Given the description of an element on the screen output the (x, y) to click on. 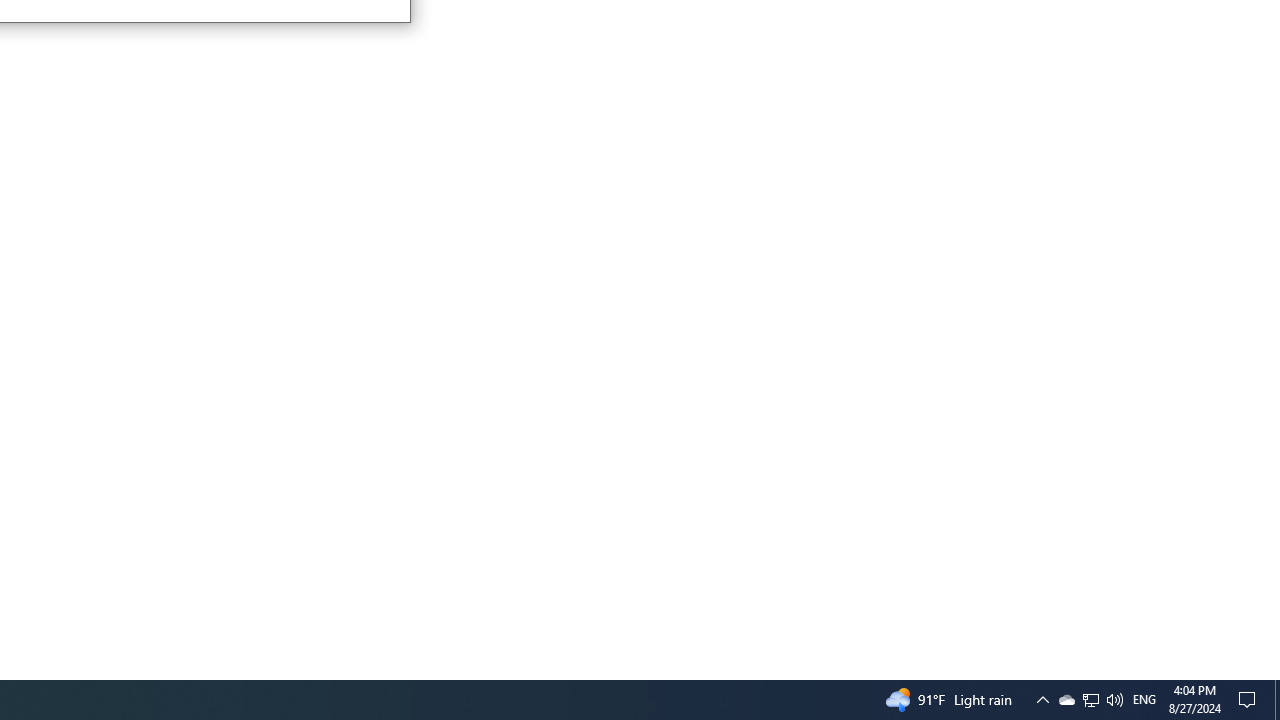
Tray Input Indicator - English (United States) (1091, 699)
Q2790: 100% (1144, 699)
Show desktop (1114, 699)
Action Center, No new notifications (1066, 699)
User Promoted Notification Area (1277, 699)
Notification Chevron (1250, 699)
